Given the description of an element on the screen output the (x, y) to click on. 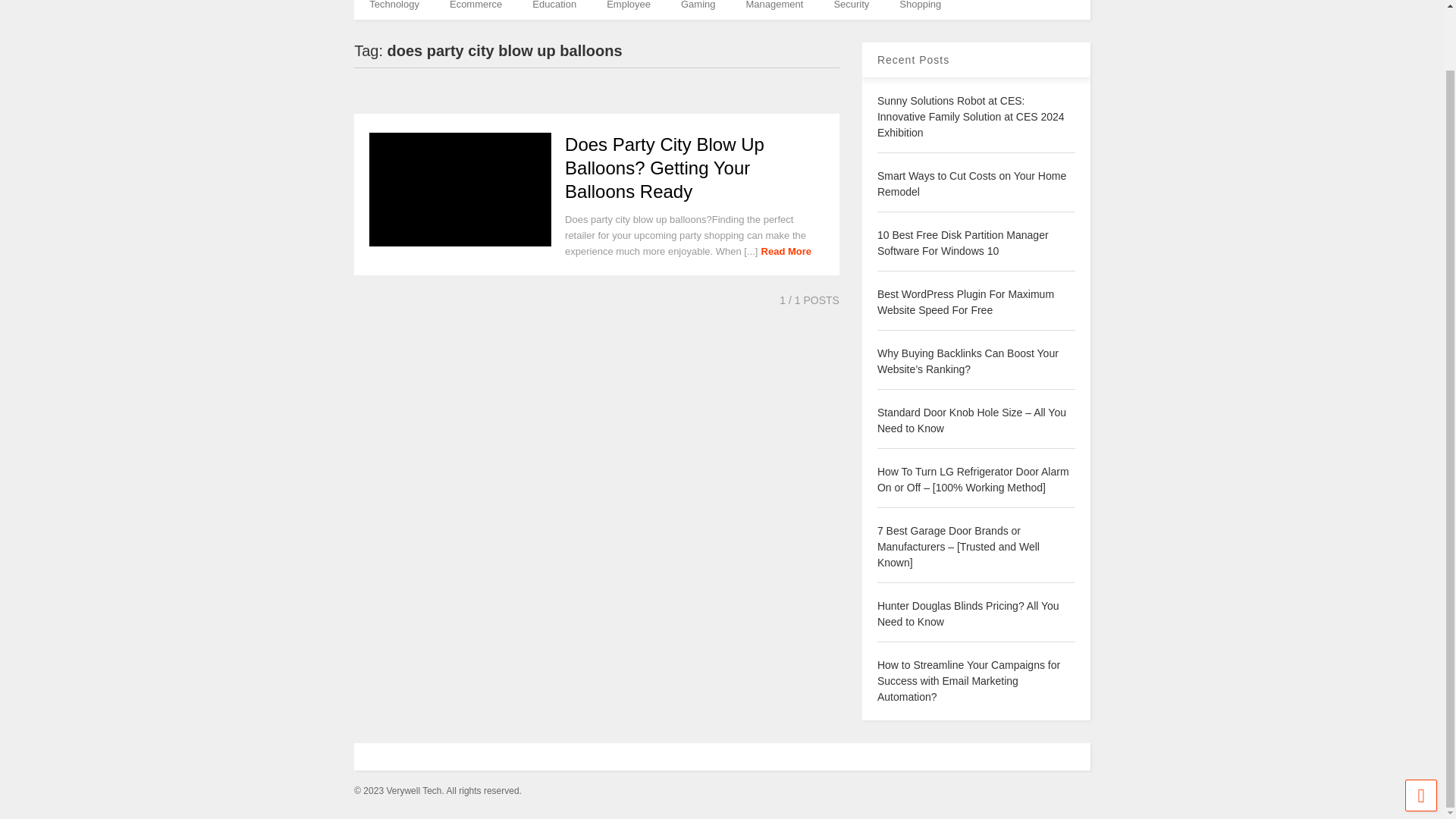
Hunter Douglas Blinds Pricing? All You Need to Know (968, 613)
Recent Posts (913, 60)
Shopping (919, 9)
Technology (393, 9)
Best WordPress Plugin For Maximum Website Speed For Free (965, 302)
Education (553, 9)
10 Best Free Disk Partition Manager Software For Windows 10 (962, 243)
Ecommerce (474, 9)
Smart Ways to Cut Costs on Your Home Remodel (971, 183)
Gaming (697, 9)
Employee (628, 9)
Read More (785, 251)
